Given the description of an element on the screen output the (x, y) to click on. 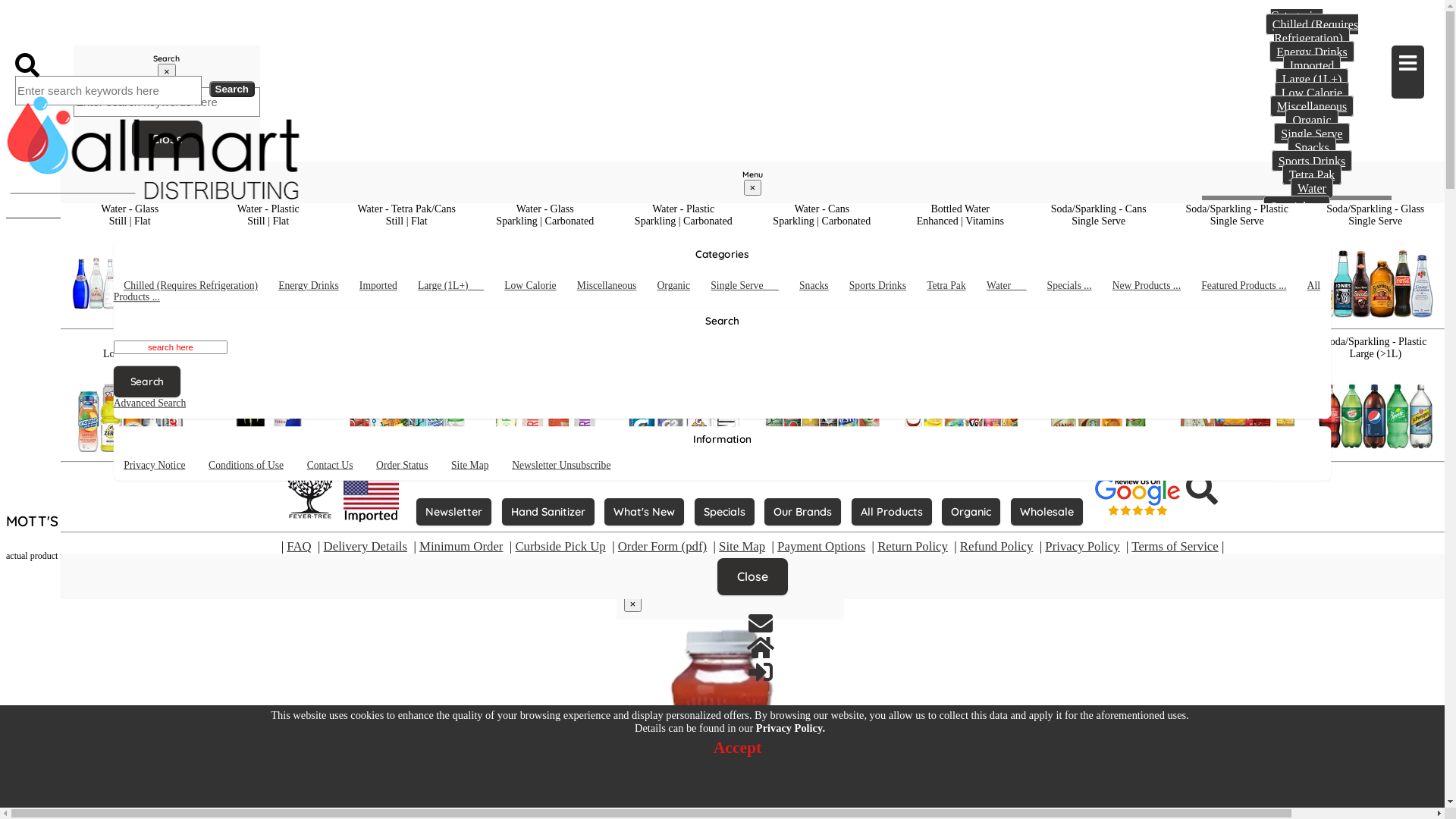
Minimum Order Element type: text (1296, 420)
Contact Us Element type: text (335, 465)
Delivery Charge Element type: text (1296, 407)
What's New Element type: text (644, 511)
Organic Element type: text (970, 511)
Home Element type: hover (72, 53)
Allmart Distributing Element type: text (664, 789)
Newsletter Element type: text (453, 511)
Wholesale Element type: text (1046, 511)
Single Serve       Element type: text (752, 286)
Site Map Element type: text (1311, 337)
Single Serve Element type: text (1311, 133)
Contact Us Element type: hover (60, 792)
Water       Element type: text (1011, 286)
Chilled (Requires Refrigeration) Element type: text (1311, 30)
Refund Policy Element type: text (996, 546)
Energy Drinks Element type: text (1311, 51)
Contact Us Element type: text (1311, 310)
Our Brands Element type: text (802, 511)
Water Element type: text (1311, 187)
Search Element type: text (231, 89)
Order Status Element type: text (1311, 324)
Close Element type: text (752, 576)
Tetra Pak Element type: text (1312, 174)
Search Element type: text (152, 383)
Hand Sanitizer Element type: text (548, 511)
Our Brands Element type: text (802, 511)
Site Map Element type: text (474, 465)
Snacks Element type: text (1311, 146)
Featured Products ... Element type: text (1296, 242)
Categories Element type: text (1296, 13)
Information Element type: text (1296, 272)
Order Form (pdf) Element type: text (662, 546)
Imported Element type: text (382, 286)
Curbside Pick Up Element type: text (559, 546)
Delivery Details Element type: text (365, 546)
Payment Options Element type: text (1297, 461)
Home Element type: hover (23, 792)
Order Shipping FAQ Element type: text (1296, 377)
New Products ... Element type: text (1153, 286)
What's New Element type: text (644, 511)
Close Element type: text (166, 138)
Low Calorie Element type: text (1311, 92)
Privacy Policy. Element type: text (790, 727)
Privacy Notice Element type: text (1311, 283)
Minimum Order Element type: text (460, 546)
Terms of Service Element type: text (1174, 546)
Imported Element type: text (1312, 64)
New Products ... Element type: text (1296, 224)
Order Status Element type: text (407, 465)
Specials Element type: text (724, 511)
Sign In Element type: hover (129, 792)
Search   Element type: text (1296, 366)
Sign In   Element type: text (1296, 473)
ALLMART DISTRIBUTING Element type: hover (152, 147)
Organic Element type: text (677, 286)
Sports Drinks Element type: text (883, 286)
Conditions of Use Element type: text (253, 465)
Instagram Element type: hover (94, 792)
Search Element type: hover (27, 65)
All Products Element type: text (891, 511)
Zen Cart Element type: text (841, 789)
Privacy Notice Element type: text (161, 465)
Return Policy Element type: text (912, 546)
Featured Products ... Element type: text (1253, 286)
Sign In Element type: hover (759, 671)
ALLMART DISTRIBUTING Element type: hover (74, 30)
All Products ... Element type: text (1296, 260)
Low Calorie Element type: text (536, 286)
Return Policy Element type: text (1296, 434)
Site Map Element type: text (741, 546)
Delivery Area Element type: text (1296, 393)
Snacks Element type: text (817, 286)
Organic Element type: text (1311, 119)
Contact Us Element type: hover (93, 53)
Curbside Pick Up Element type: text (1296, 448)
Energy Drinks Element type: text (315, 286)
Menu Element type: hover (1407, 71)
Home Element type: hover (759, 647)
Newsletter Unsubscribe Element type: text (572, 465)
Large (1L+) Element type: text (1311, 78)
Conditions of Use Element type: text (1311, 296)
Chilled (Requires Refrigeration) Element type: text (204, 286)
Tetra Pak Element type: text (951, 286)
Newsletter Element type: text (453, 511)
Contact Us Element type: hover (759, 623)
Sports Drinks Element type: text (1311, 160)
Sign In Element type: hover (1317, 473)
All Products Element type: text (891, 511)
Advanced Search Element type: hover (1201, 488)
Miscellaneous Element type: text (613, 286)
Specials ... Element type: text (1296, 205)
Newsletter Unsubscribe Element type: text (1311, 351)
Specials Element type: text (724, 511)
Organic Element type: text (970, 511)
Specials ... Element type: text (1074, 286)
Privacy Policy Element type: text (1081, 546)
Sign In Element type: hover (112, 53)
Advanced Search Element type: text (155, 403)
Wholesale Element type: text (1046, 511)
Large (1L+)       Element type: text (457, 286)
FAQ Element type: text (298, 546)
Payment Options Element type: text (821, 546)
Hand Sanitizer Element type: text (548, 511)
Miscellaneous Element type: text (1311, 105)
